Given the description of an element on the screen output the (x, y) to click on. 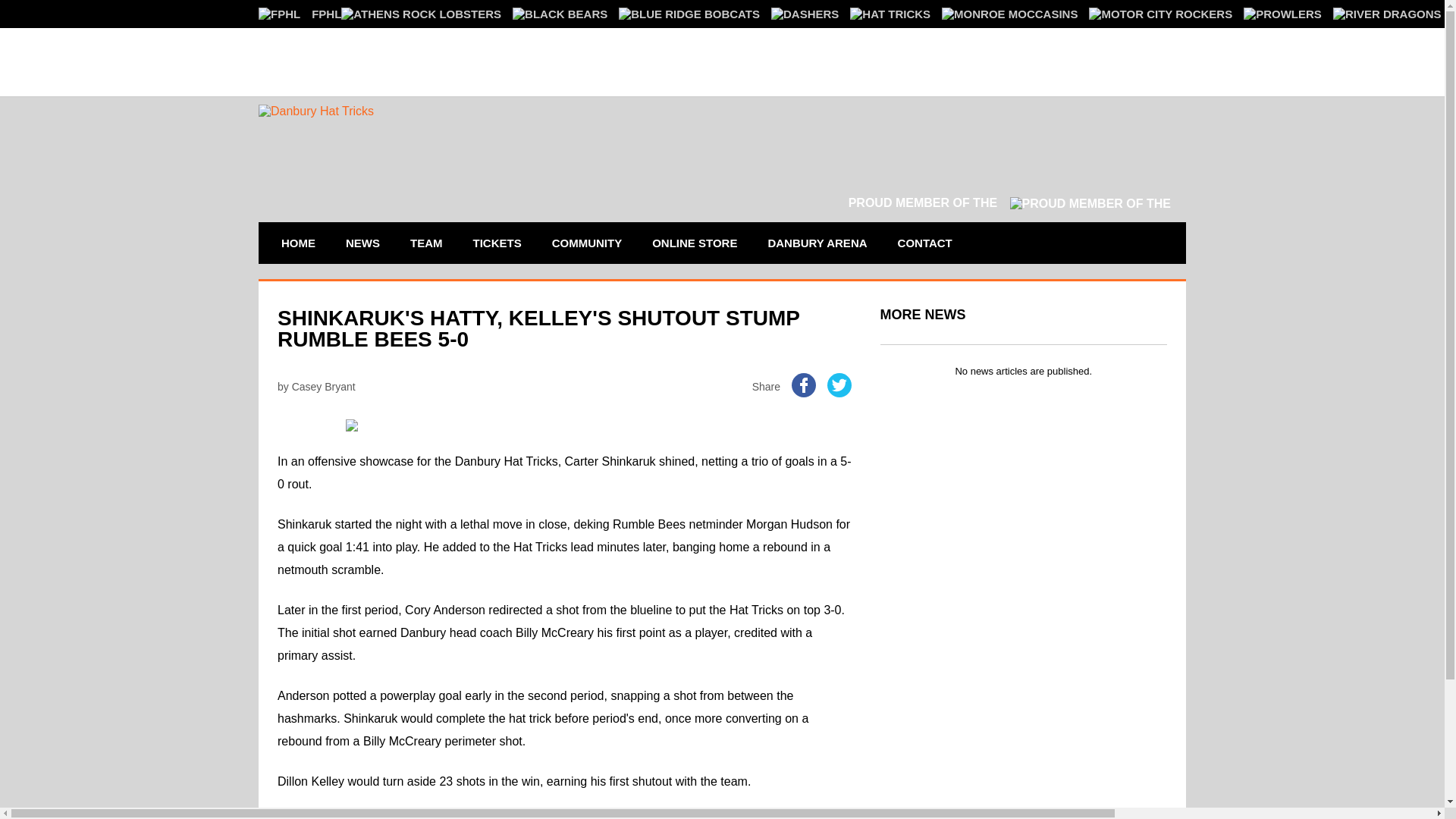
PROUD MEMBER OF THE (1009, 202)
FPHL (299, 13)
NEWS (362, 242)
HOME (297, 242)
